Given the description of an element on the screen output the (x, y) to click on. 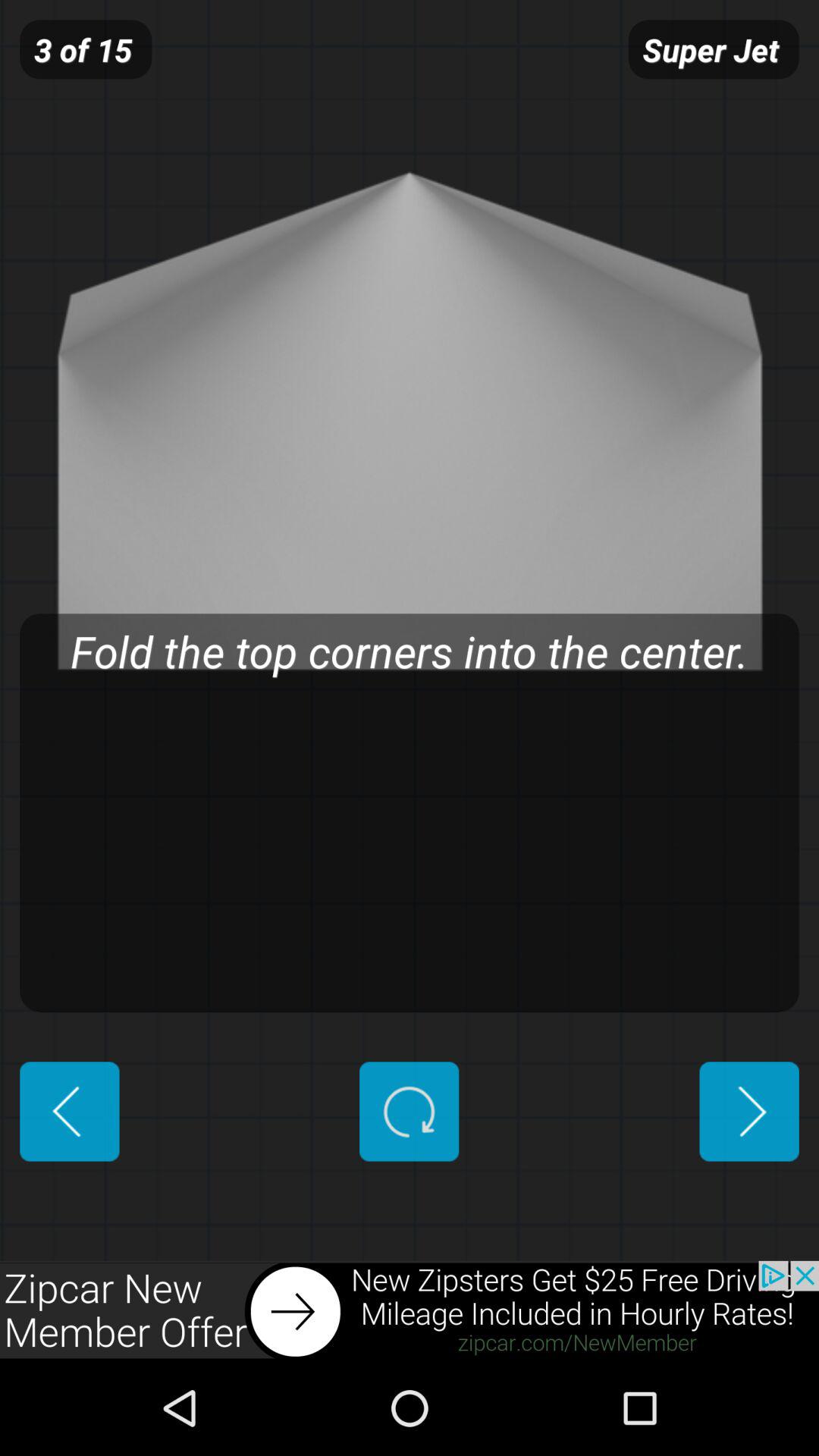
go to this advertised product (409, 1310)
